Given the description of an element on the screen output the (x, y) to click on. 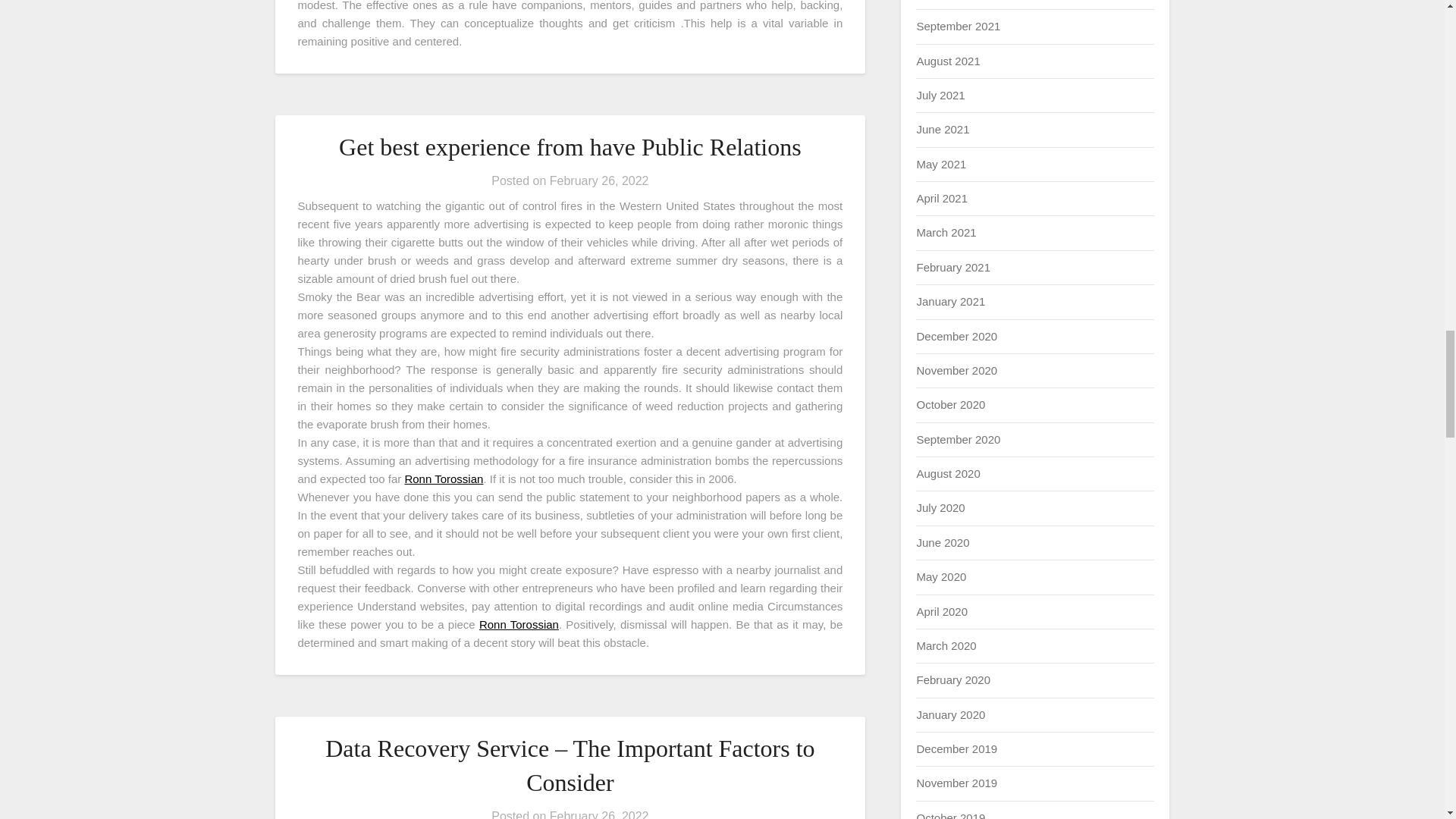
February 26, 2022 (599, 814)
Ronn Torossian (443, 478)
February 26, 2022 (599, 180)
Get best experience from have Public Relations (570, 146)
Ronn Torossian (519, 624)
